Given the description of an element on the screen output the (x, y) to click on. 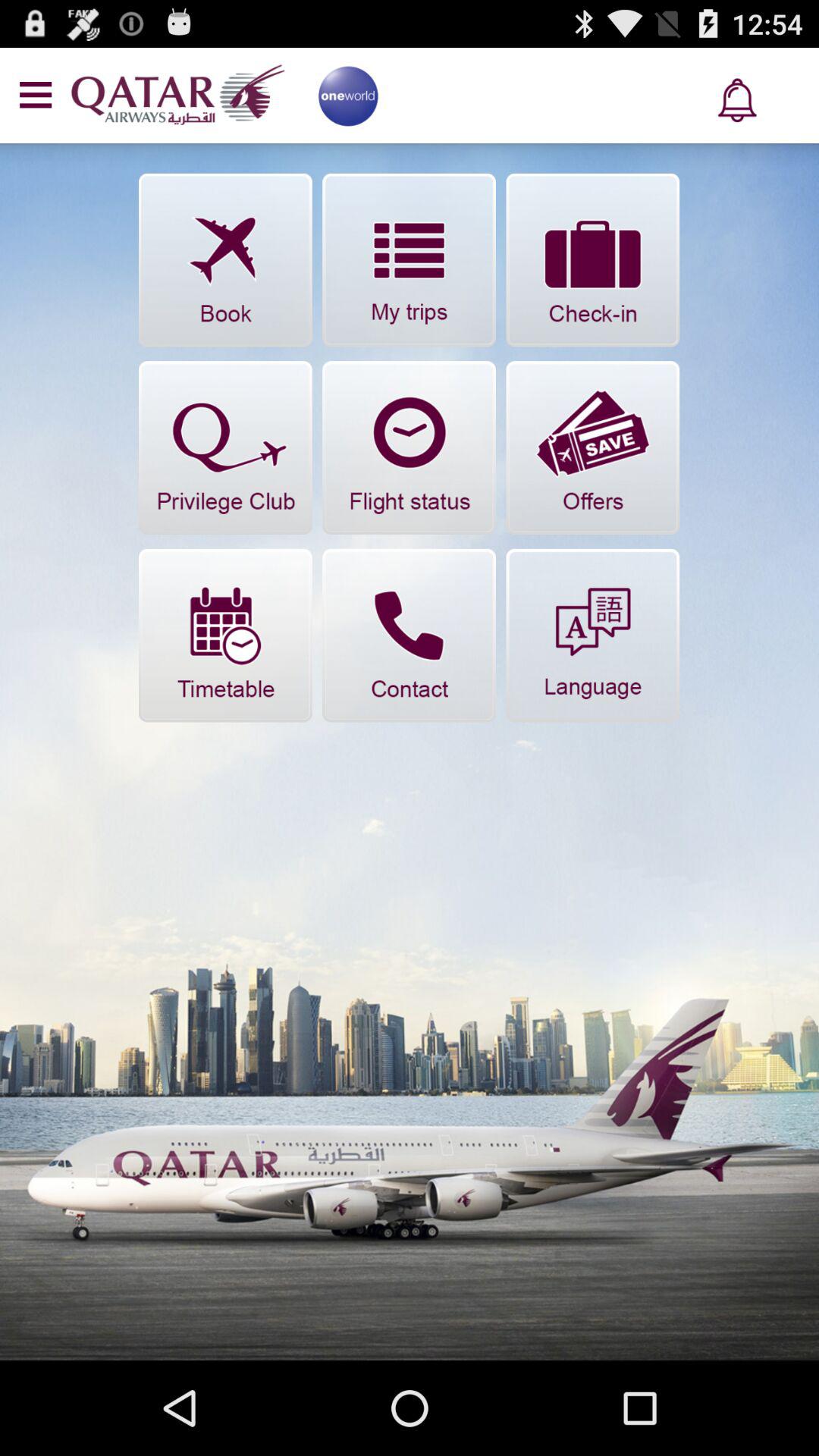
click book button (225, 259)
